Given the description of an element on the screen output the (x, y) to click on. 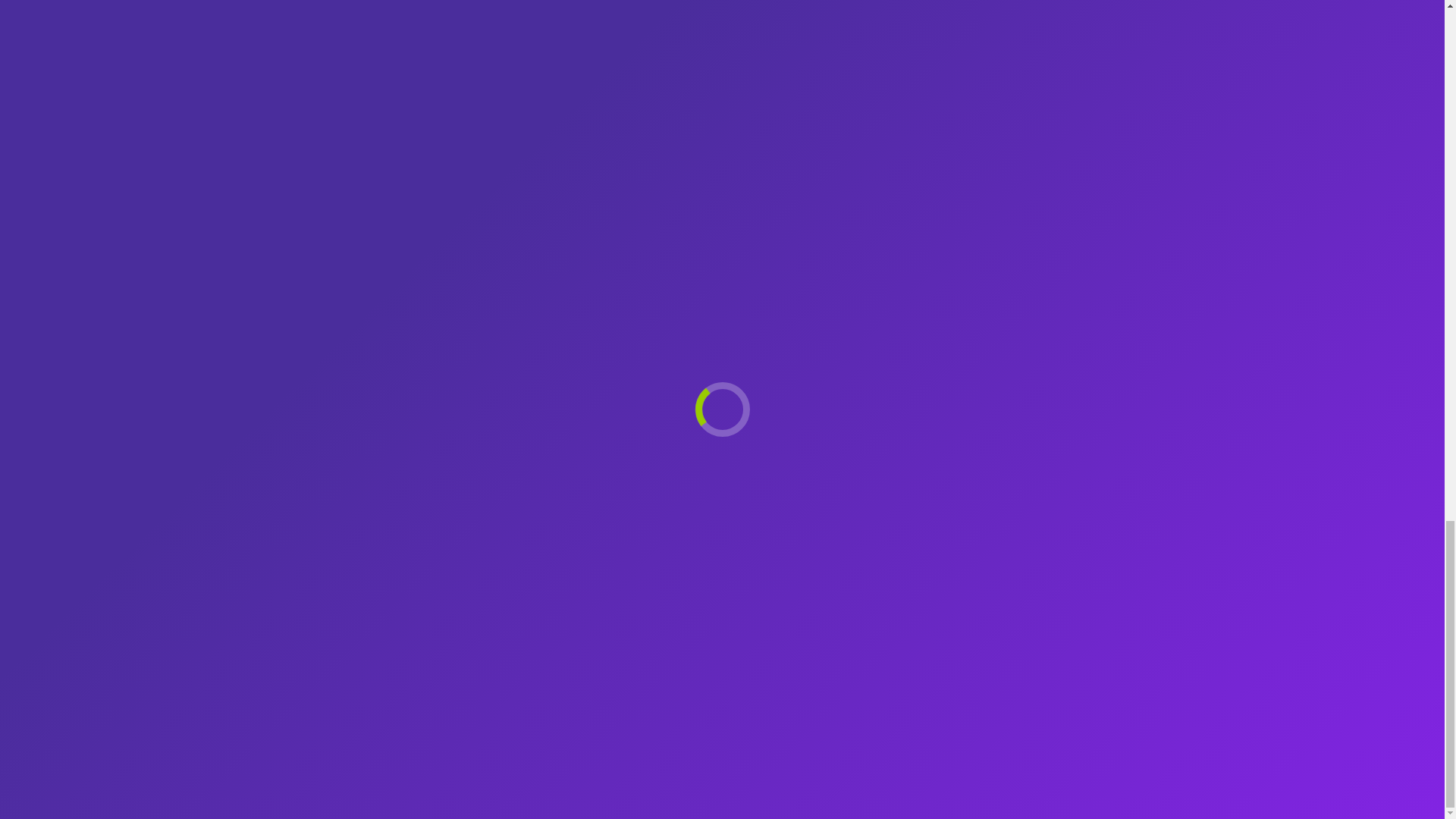
submit (853, 716)
Contact us for VoIP (1078, 218)
Contact Us Today (1078, 218)
submit (853, 716)
Submit (775, 715)
